Given the description of an element on the screen output the (x, y) to click on. 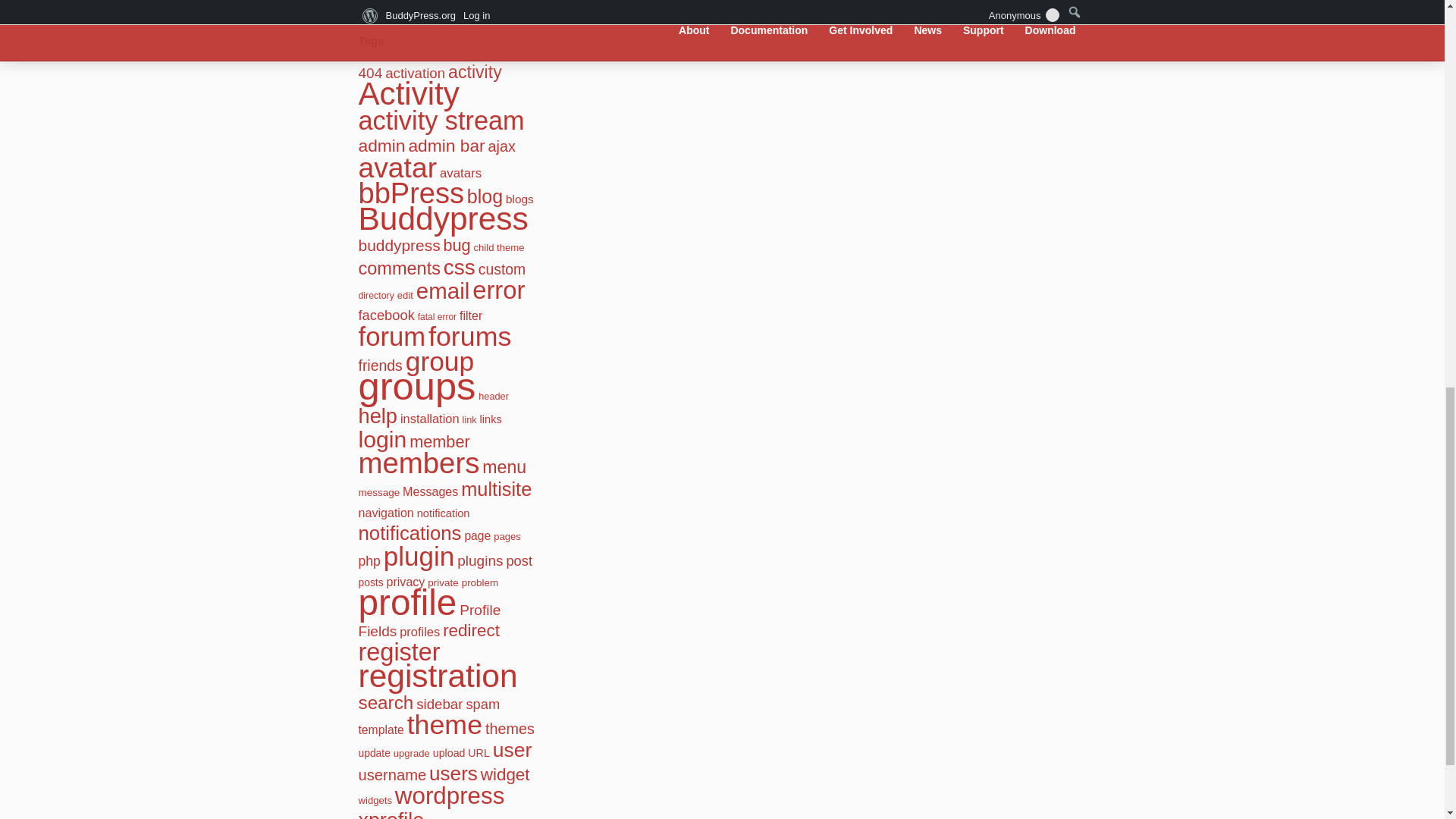
activation (415, 73)
ajax (501, 146)
admin (381, 145)
activity (475, 71)
avatars (460, 173)
blog (484, 196)
404 (369, 73)
avatar (397, 167)
bbPress (410, 193)
All Recent Topics (414, 4)
activity stream (441, 120)
Activity (408, 93)
admin bar (445, 145)
